Given the description of an element on the screen output the (x, y) to click on. 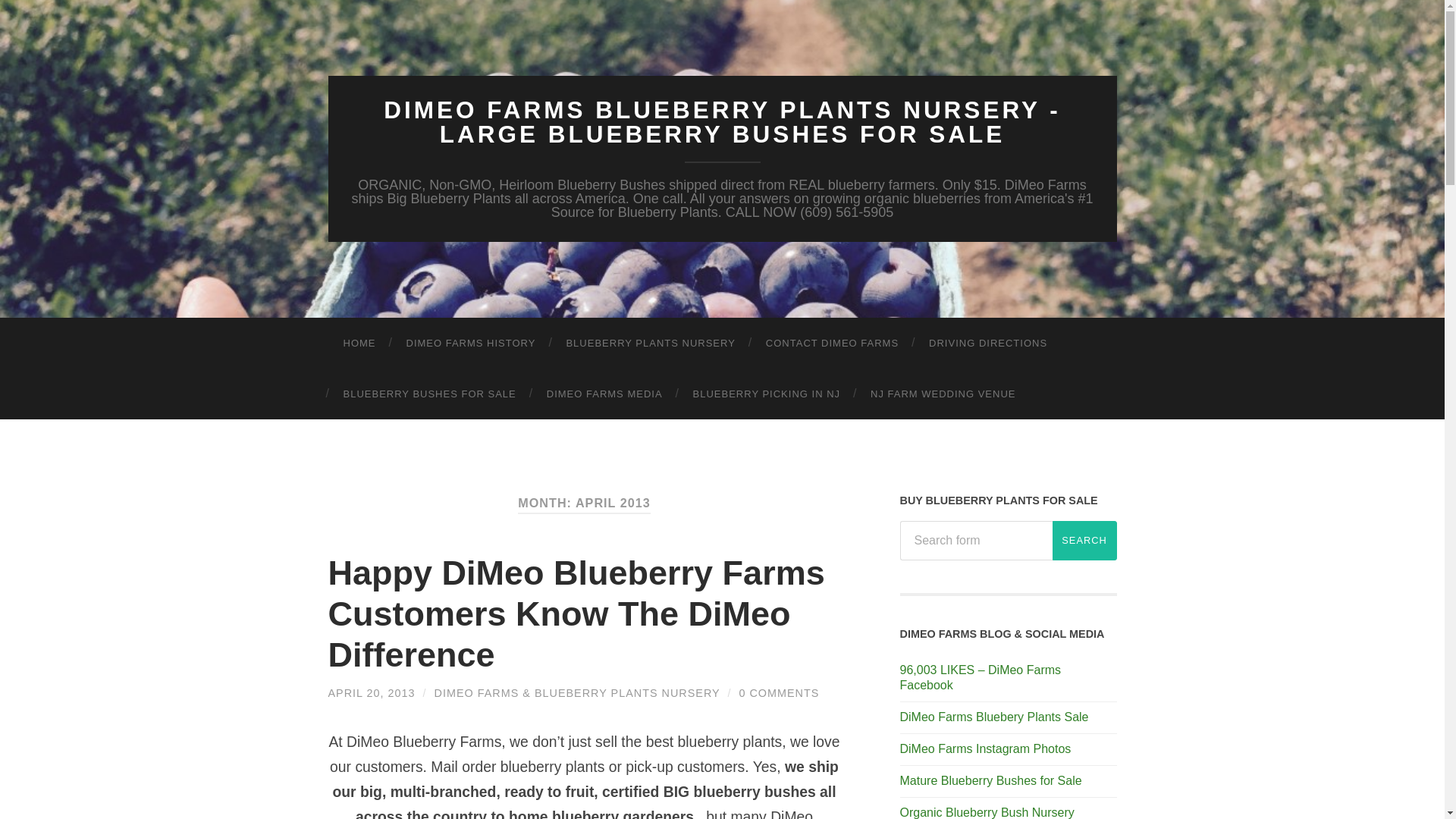
DiMeo Farms on Pinterest (990, 780)
DIMEO FARMS HISTORY (471, 342)
BLUEBERRY BUSHES FOR SALE (429, 393)
Search (1084, 540)
DIMEO FARMS MEDIA (604, 393)
CONTACT DIMEO FARMS (832, 342)
BLUEBERRY PLANTS NURSERY (649, 342)
Search (1084, 540)
HOME (358, 342)
DRIVING DIRECTIONS (988, 342)
DiMeo Blueberry Farms Facebook (980, 677)
APRIL 20, 2013 (370, 693)
